Given the description of an element on the screen output the (x, y) to click on. 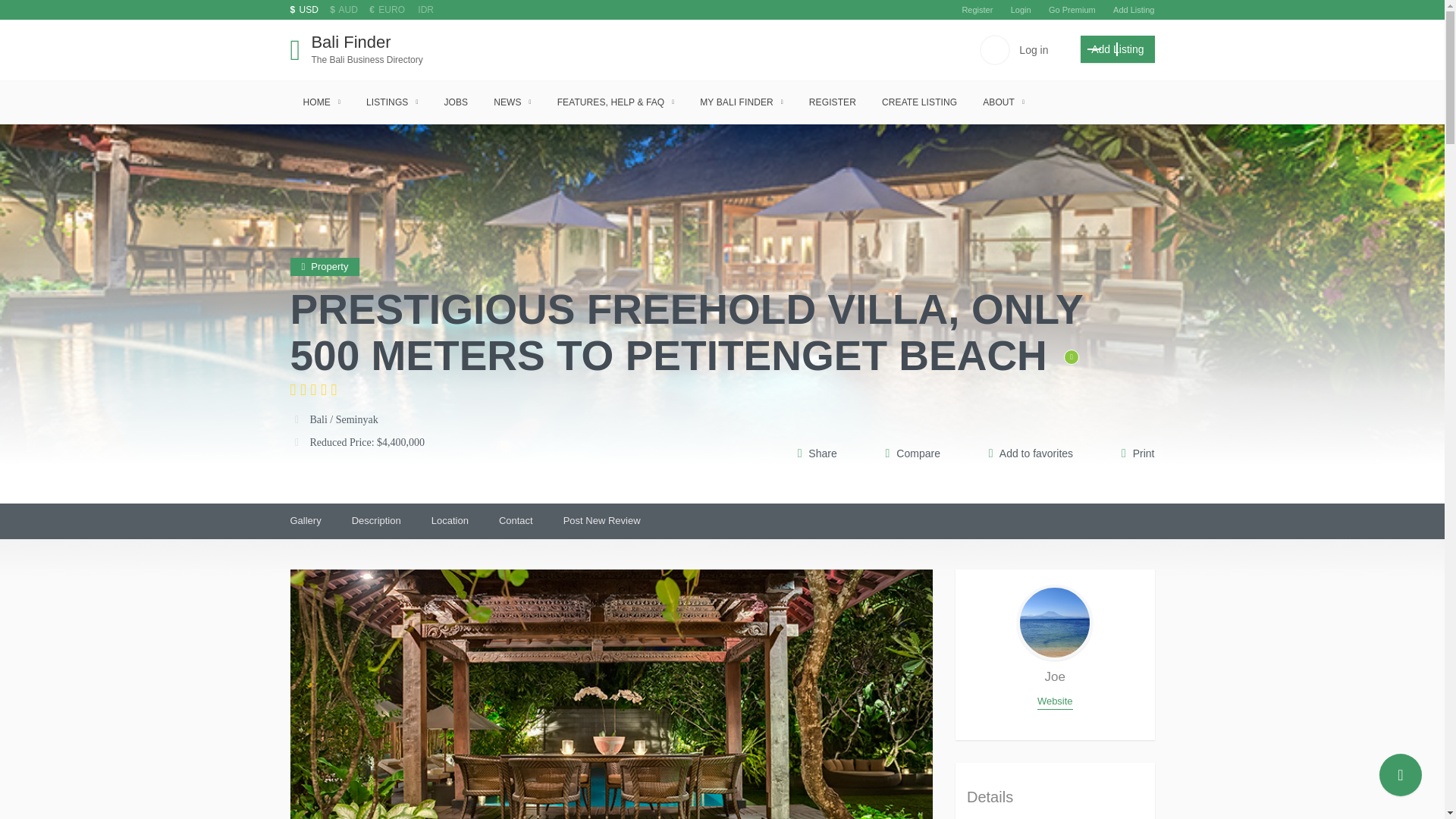
HOME (320, 102)
LISTINGS (391, 102)
JOBS (455, 102)
Login (1020, 9)
Not rated yet! (351, 48)
Go Premium (312, 389)
Register (1072, 9)
Add Listing (976, 9)
NEWS (1117, 49)
Log in (511, 102)
IDR (1033, 50)
Add Listing (424, 9)
Share (1133, 9)
